Given the description of an element on the screen output the (x, y) to click on. 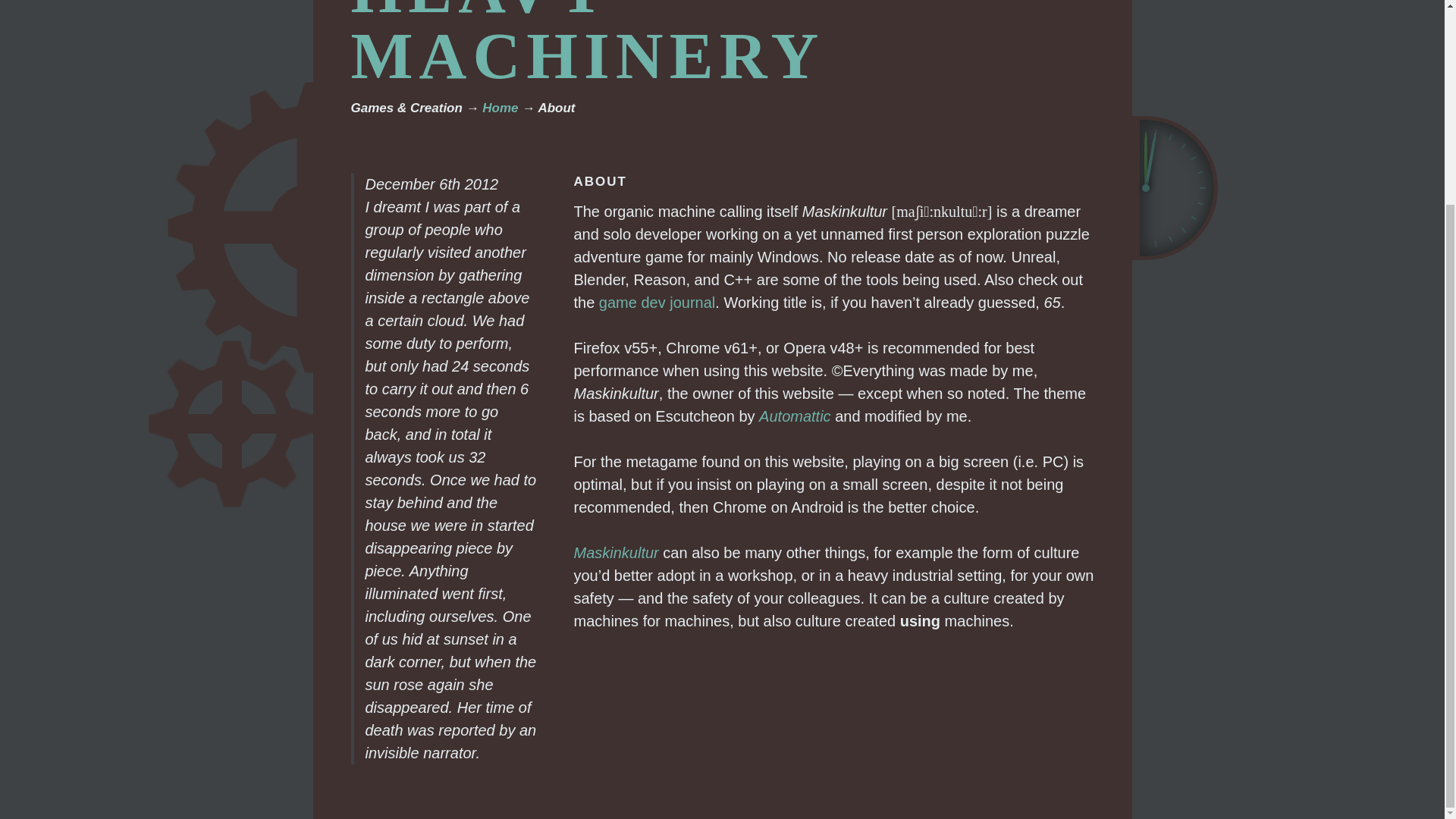
Maskinkultur (615, 552)
Automattic (793, 416)
v48.0.2685.32 (846, 347)
THE PROPER HANDLING OF HEAVY MACHINERY (617, 46)
v61.0.3163.100 (740, 347)
game dev journal (656, 302)
Home (499, 107)
v55.0.3 (641, 347)
